Given the description of an element on the screen output the (x, y) to click on. 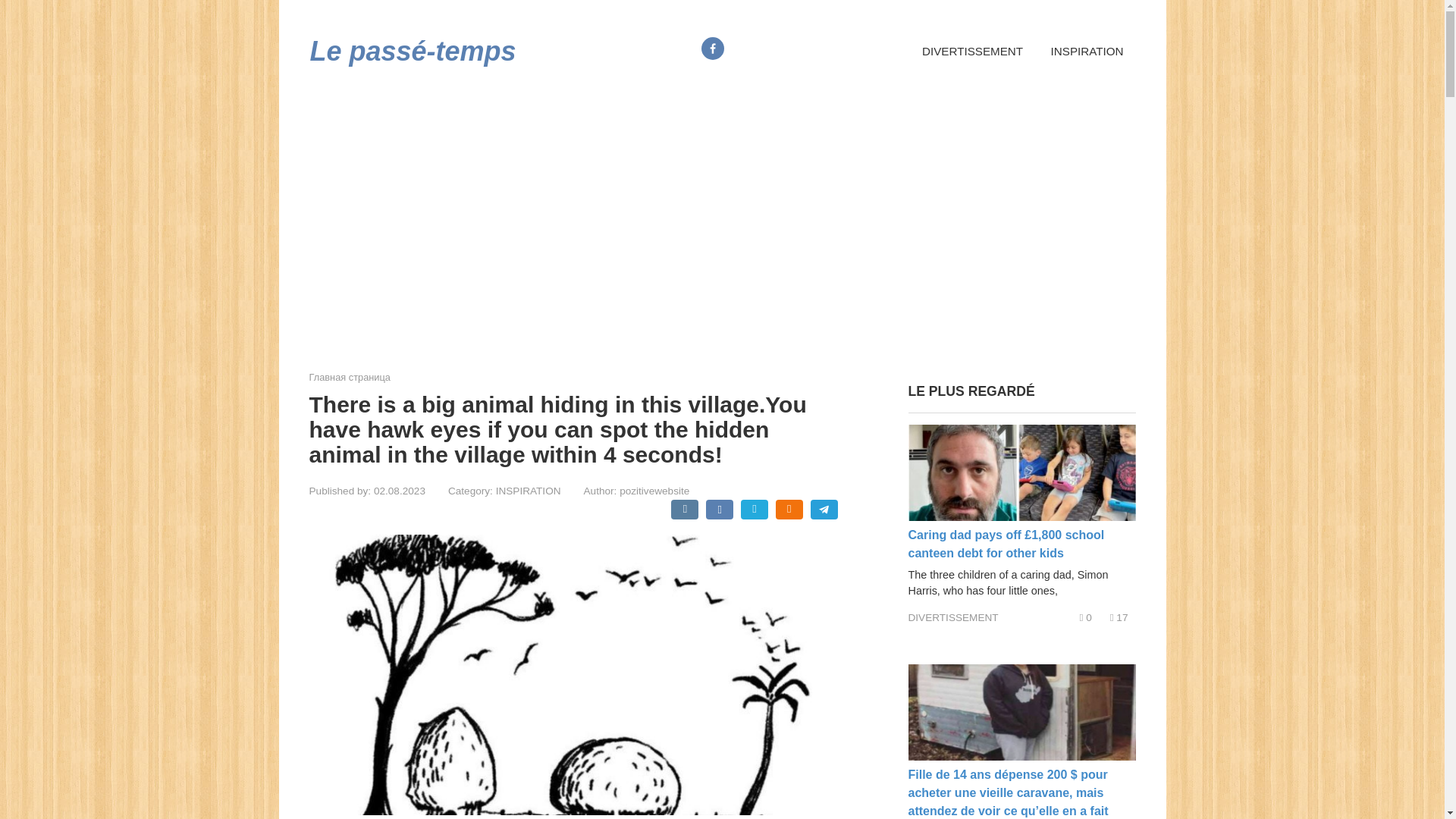
DIVERTISSEMENT (972, 51)
INSPIRATION (1087, 51)
DIVERTISSEMENT (953, 617)
INSPIRATION (528, 490)
